Given the description of an element on the screen output the (x, y) to click on. 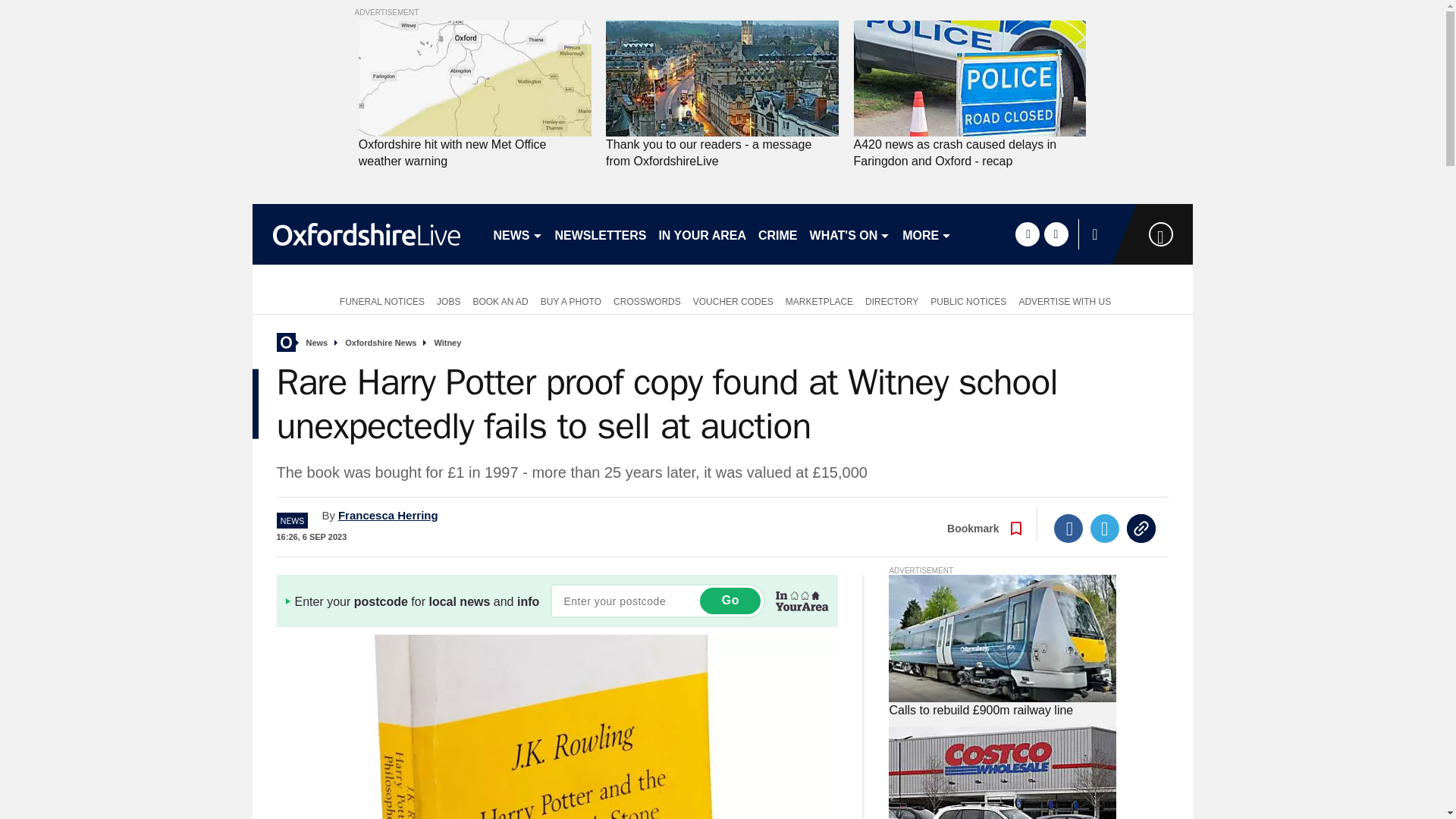
Thank you to our readers - a message from OxfordshireLive (721, 78)
PUBLIC NOTICES (967, 300)
News (317, 343)
Thank you to our readers - a message from OxfordshireLive (721, 152)
CROSSWORDS (647, 300)
MARKETPLACE (818, 300)
Oxfordshire News (380, 343)
WHAT'S ON (849, 233)
VOUCHER CODES (732, 300)
IN YOUR AREA (702, 233)
BUY A PHOTO (570, 300)
BOOK AN AD (499, 300)
NEWSLETTERS (600, 233)
